Given the description of an element on the screen output the (x, y) to click on. 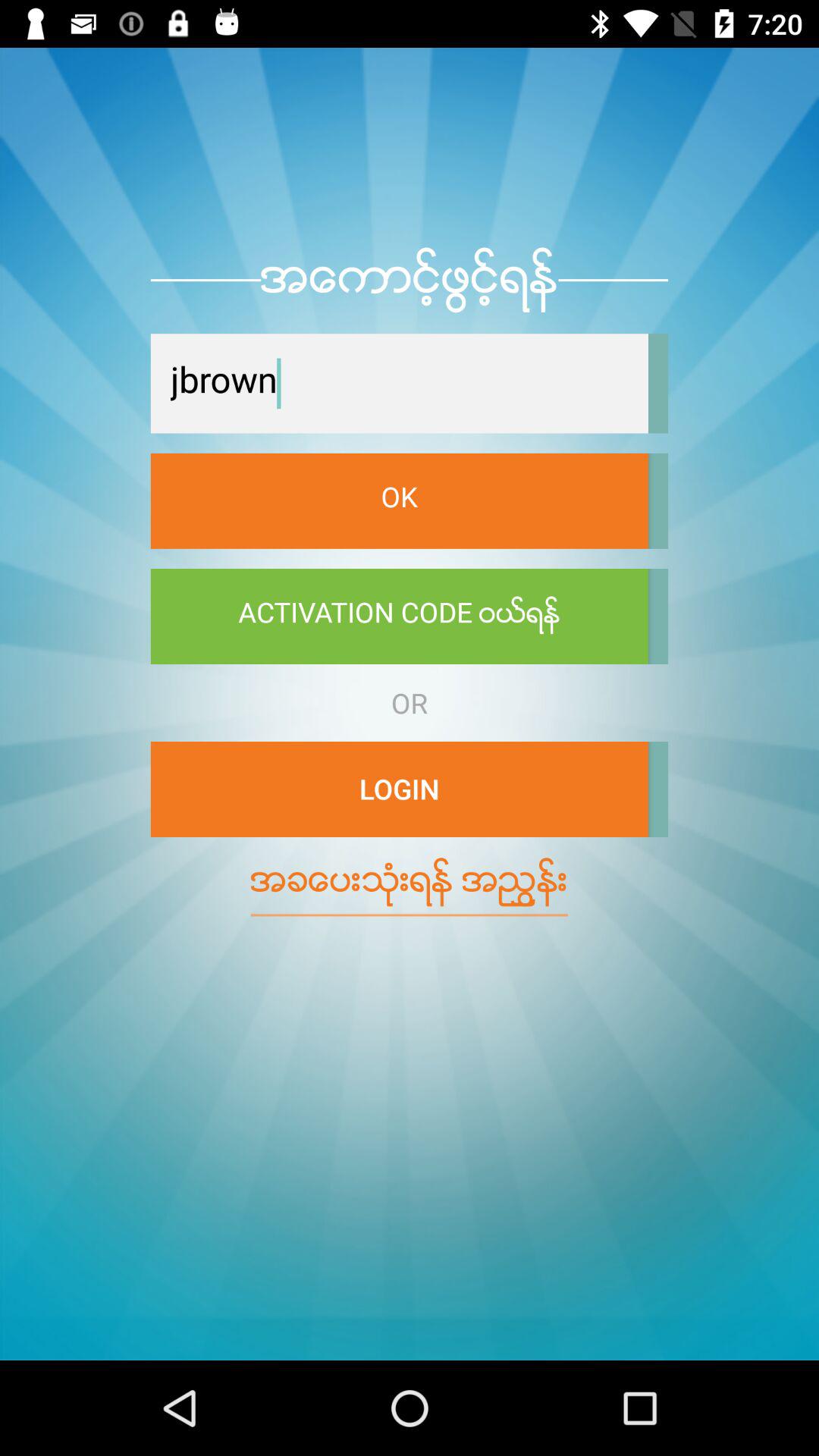
tap jbrown item (399, 383)
